Given the description of an element on the screen output the (x, y) to click on. 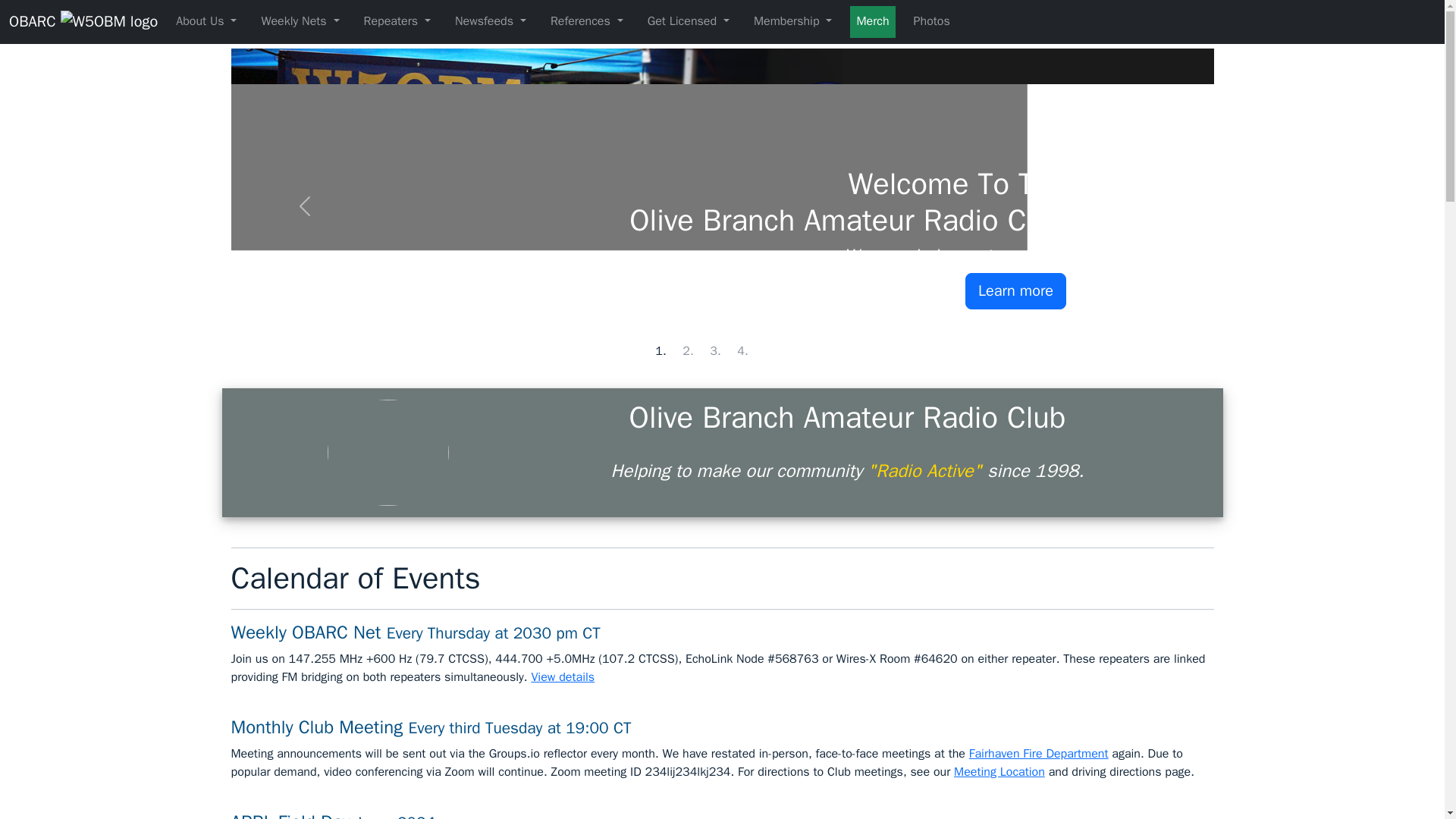
Get Licensed (688, 21)
OBARC (82, 21)
Repeaters (397, 21)
Newsfeeds (490, 21)
References (586, 21)
Weekly Nets (299, 21)
About Us (206, 21)
